Given the description of an element on the screen output the (x, y) to click on. 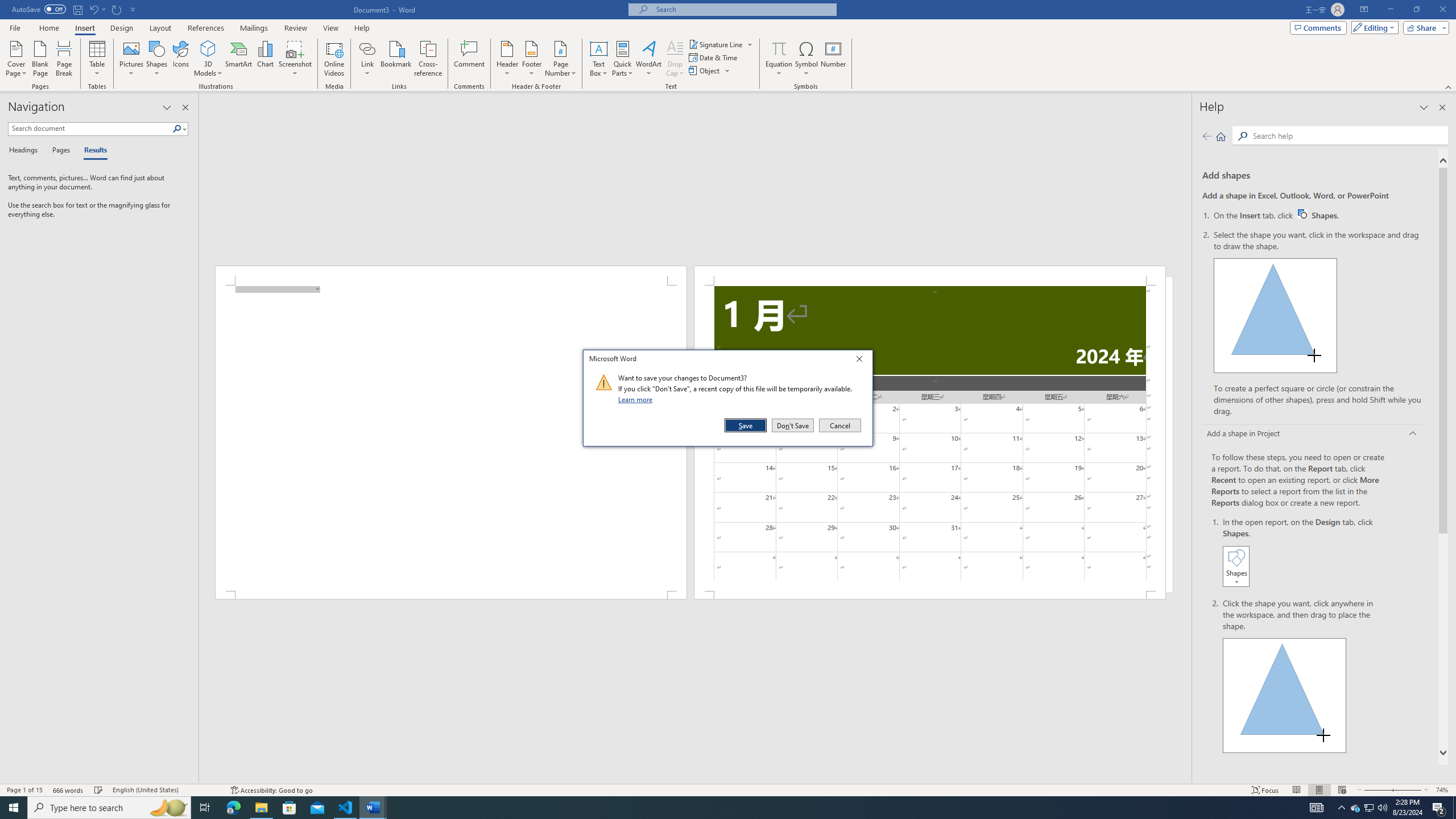
Web Layout (1342, 790)
Action Center, 2 new notifications (1439, 807)
Visual Studio Code - 1 running window (345, 807)
Customize Quick Access Toolbar (133, 9)
Home (48, 28)
Drawing a shape (1284, 695)
Share (1423, 27)
Save (746, 425)
File Explorer - 1 running window (261, 807)
Close (862, 360)
Undo New Page (92, 9)
Learn more (636, 399)
Add a shape in Project (1312, 434)
